Given the description of an element on the screen output the (x, y) to click on. 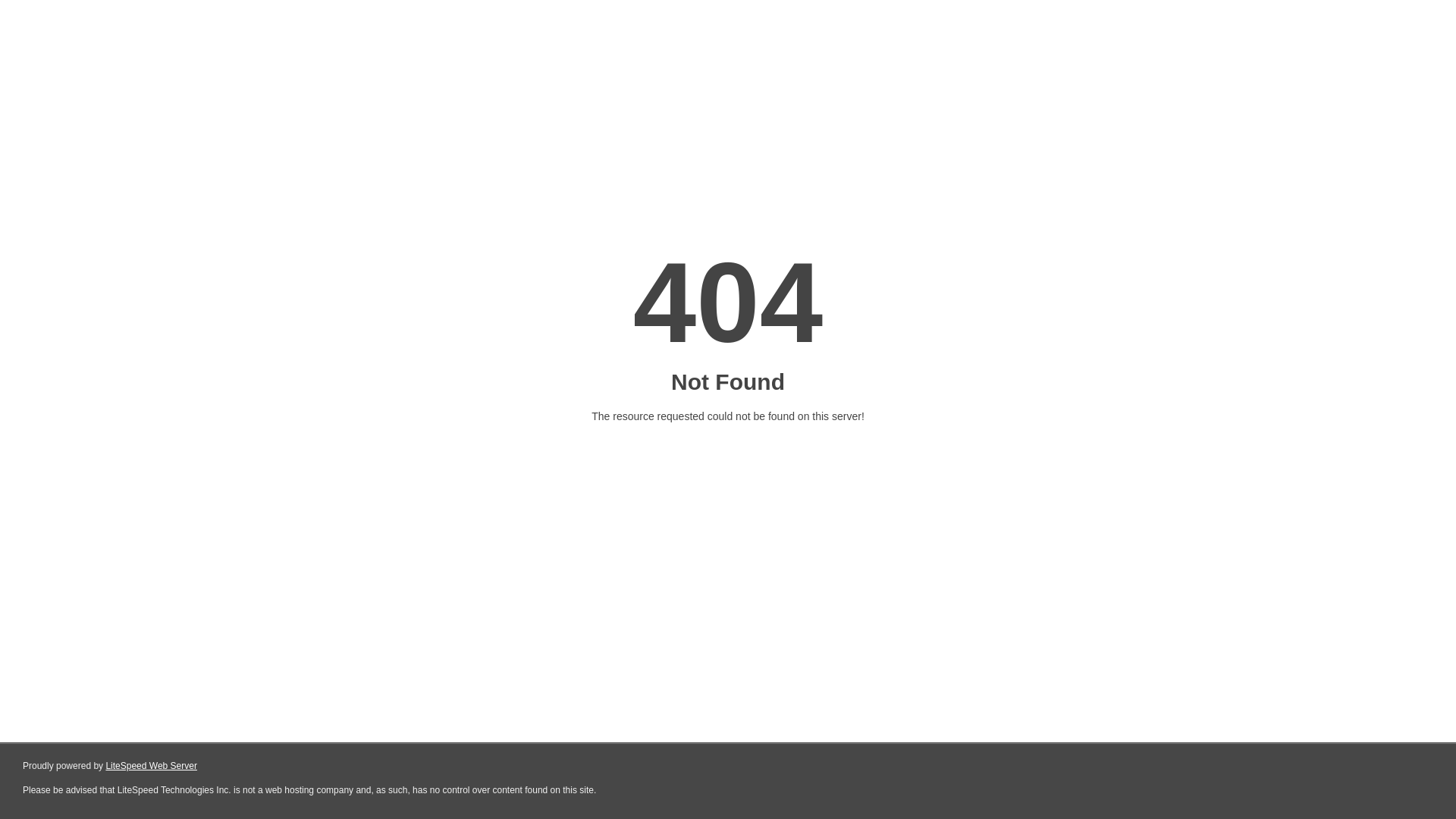
LiteSpeed Web Server Element type: text (151, 765)
